Given the description of an element on the screen output the (x, y) to click on. 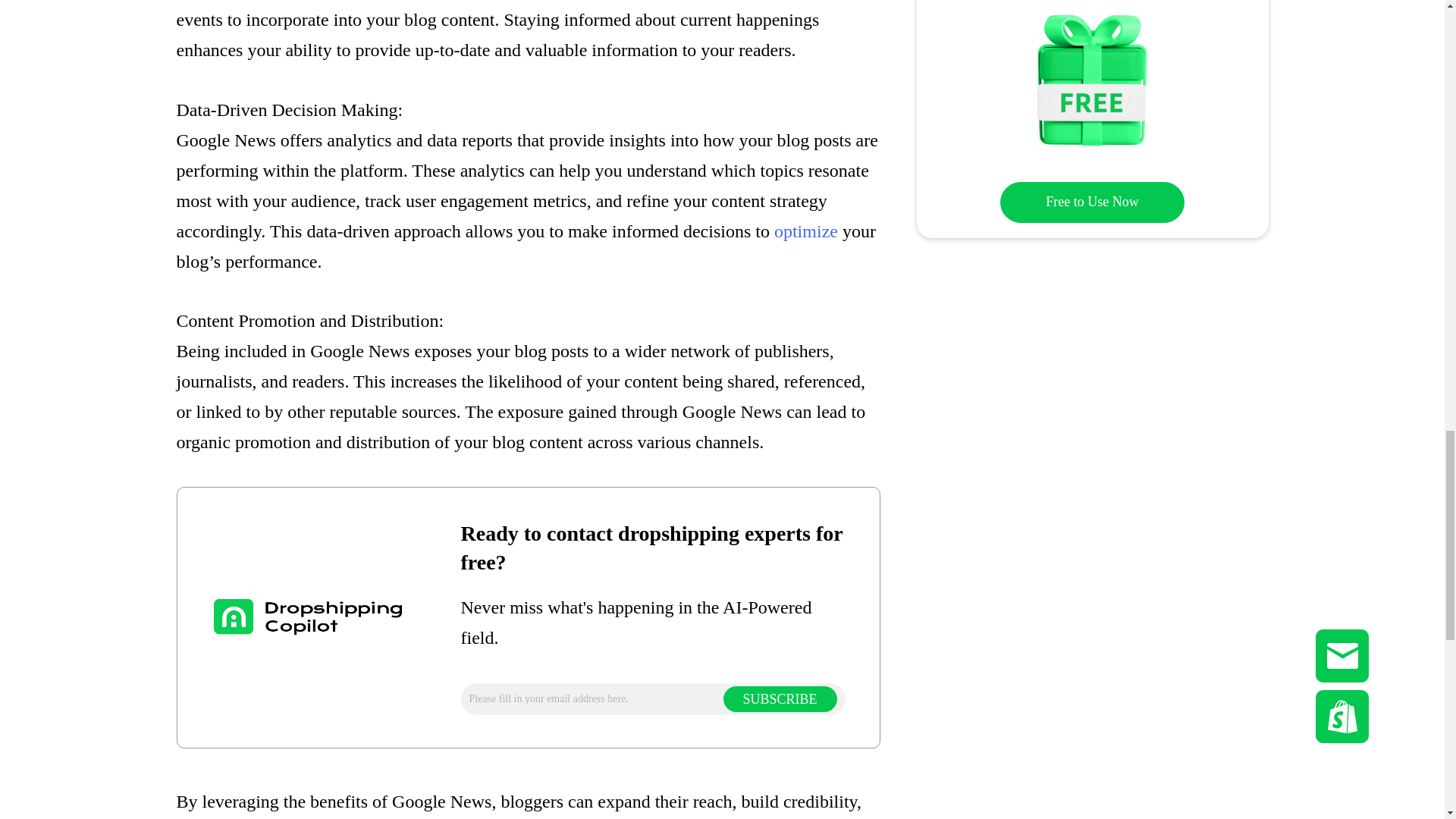
How To Optimize Your Blog For Search Engines (806, 230)
